Given the description of an element on the screen output the (x, y) to click on. 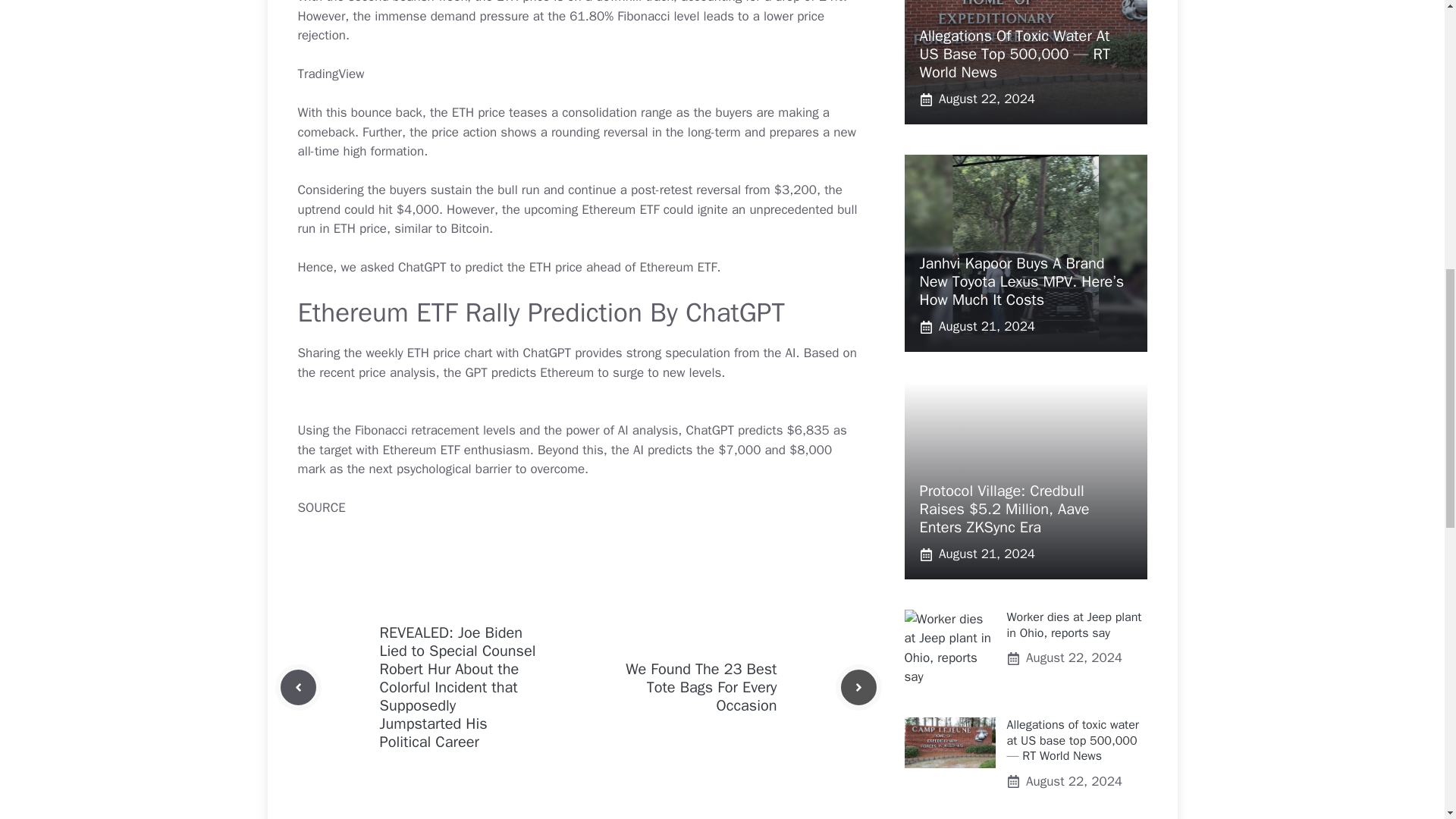
Worker dies at Jeep plant in Ohio, reports say (949, 648)
Worker dies at Jeep plant in Ohio, reports say (1074, 624)
Scroll back to top (1406, 720)
We Found The 23 Best Tote Bags For Every Occasion (701, 687)
SOURCE (321, 507)
